Given the description of an element on the screen output the (x, y) to click on. 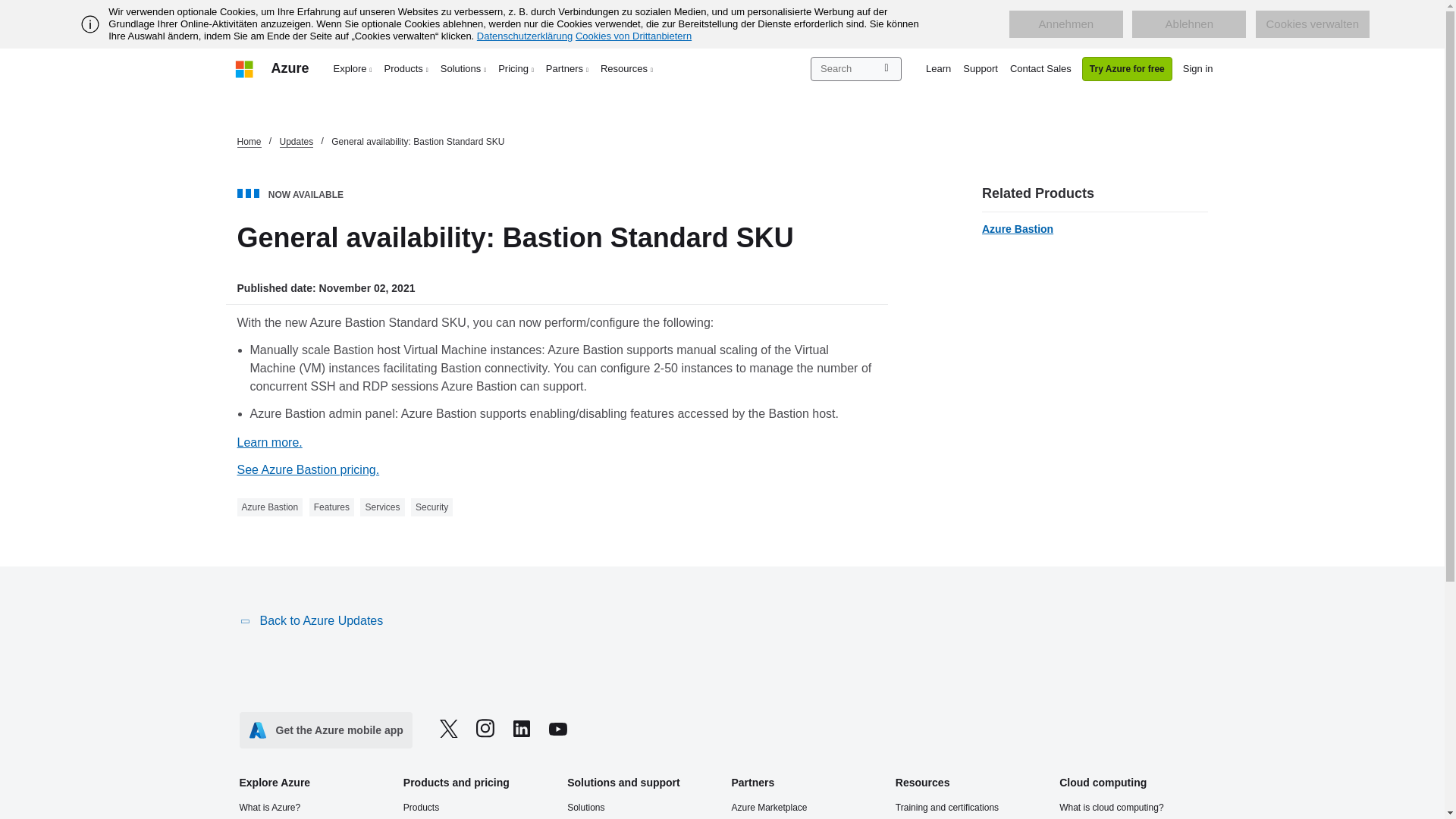
Azure (289, 68)
Ablehnen (1189, 23)
Explore (352, 68)
Skip to main content (7, 7)
Products (405, 68)
Annehmen (1065, 23)
Cookies verwalten (1312, 23)
Cookies von Drittanbietern (633, 35)
